Given the description of an element on the screen output the (x, y) to click on. 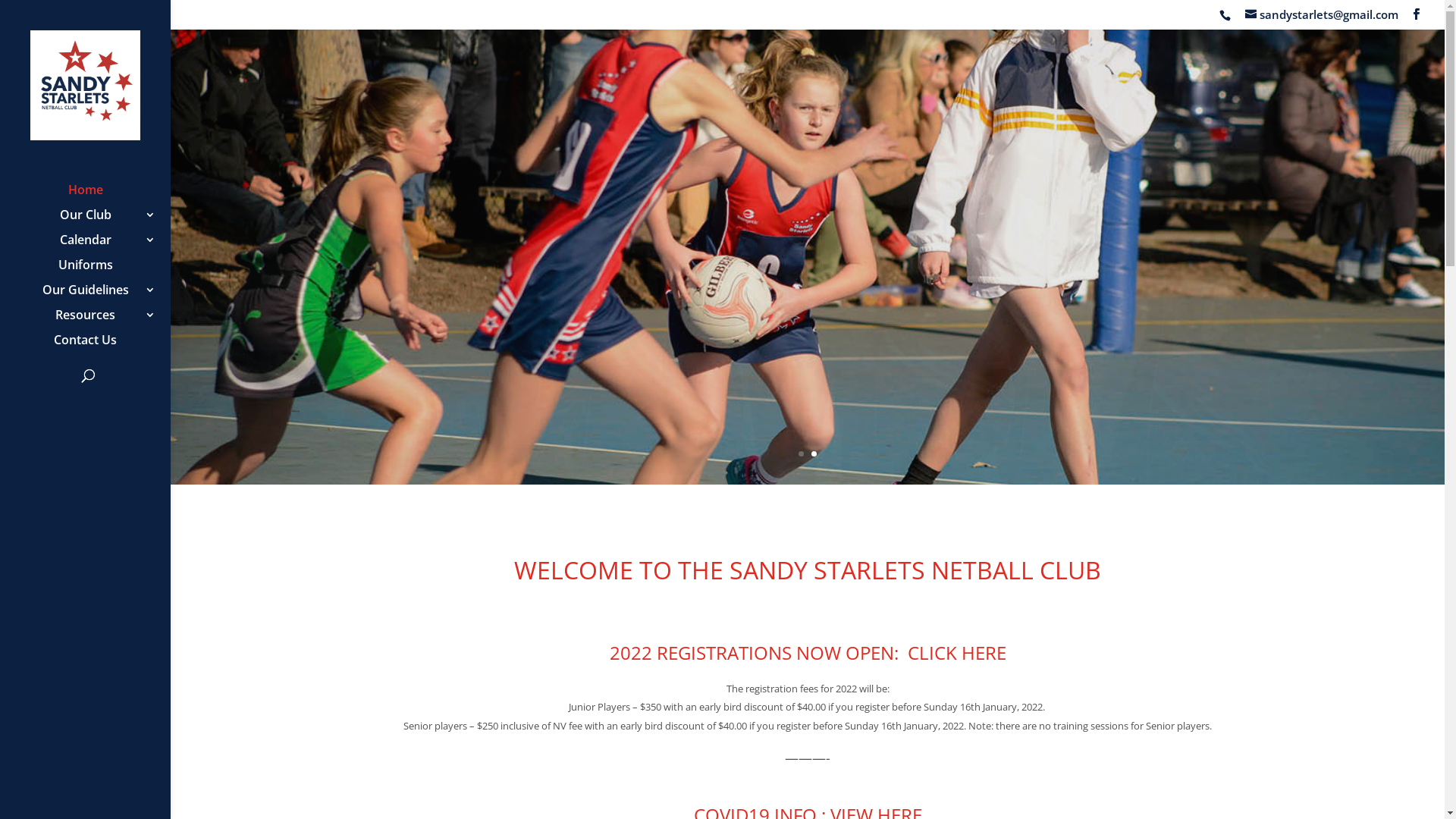
Calendar Element type: text (100, 246)
Our Club Element type: text (100, 221)
2 Element type: text (813, 453)
Home Element type: text (100, 196)
2022 REGISTRATIONS NOW OPEN:  CLICK HERE Element type: text (807, 652)
Our Guidelines Element type: text (100, 296)
WELCOME TO THE SANDY STARLETS NETBALL CLUB Element type: text (807, 569)
Resources Element type: text (100, 321)
sandystarlets@gmail.com Element type: text (1321, 13)
1 Element type: text (800, 453)
Uniforms Element type: text (100, 271)
Contact Us Element type: text (100, 346)
